Given the description of an element on the screen output the (x, y) to click on. 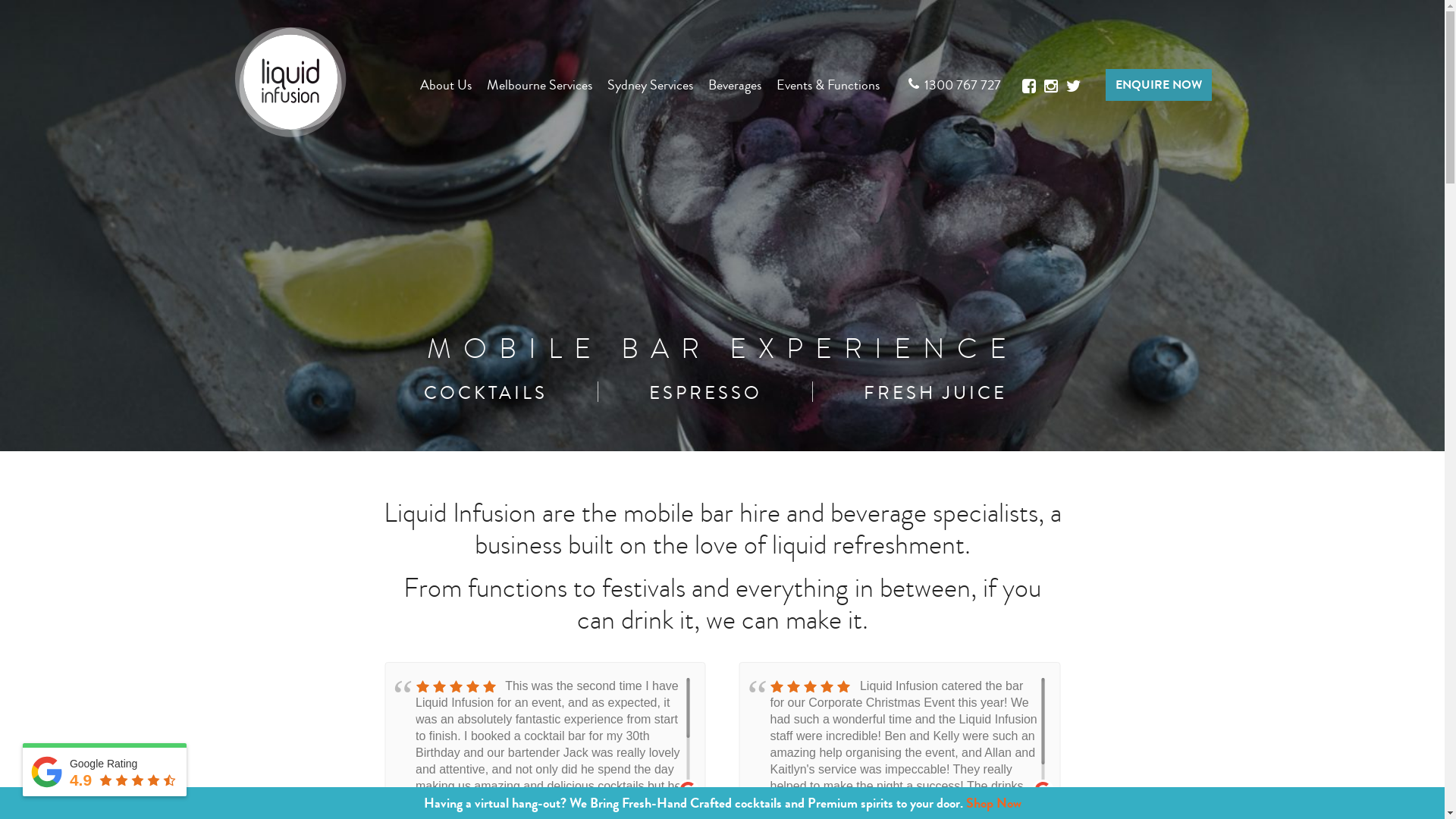
About Us Element type: text (445, 84)
facebook Element type: text (1029, 86)
Sydney Services Element type: text (649, 84)
ESPRESSO Element type: text (705, 392)
Shop Now Element type: text (993, 802)
twitter Element type: text (1073, 86)
ENQUIRE NOW Element type: text (1158, 84)
Events & Functions Element type: text (827, 84)
Beverages Element type: text (734, 84)
COCKTAILS Element type: text (485, 392)
1300 767 727 Element type: text (961, 84)
Melbourne Services Element type: text (539, 84)
FRESH JUICE Element type: text (935, 392)
instagram Element type: text (1050, 93)
